Given the description of an element on the screen output the (x, y) to click on. 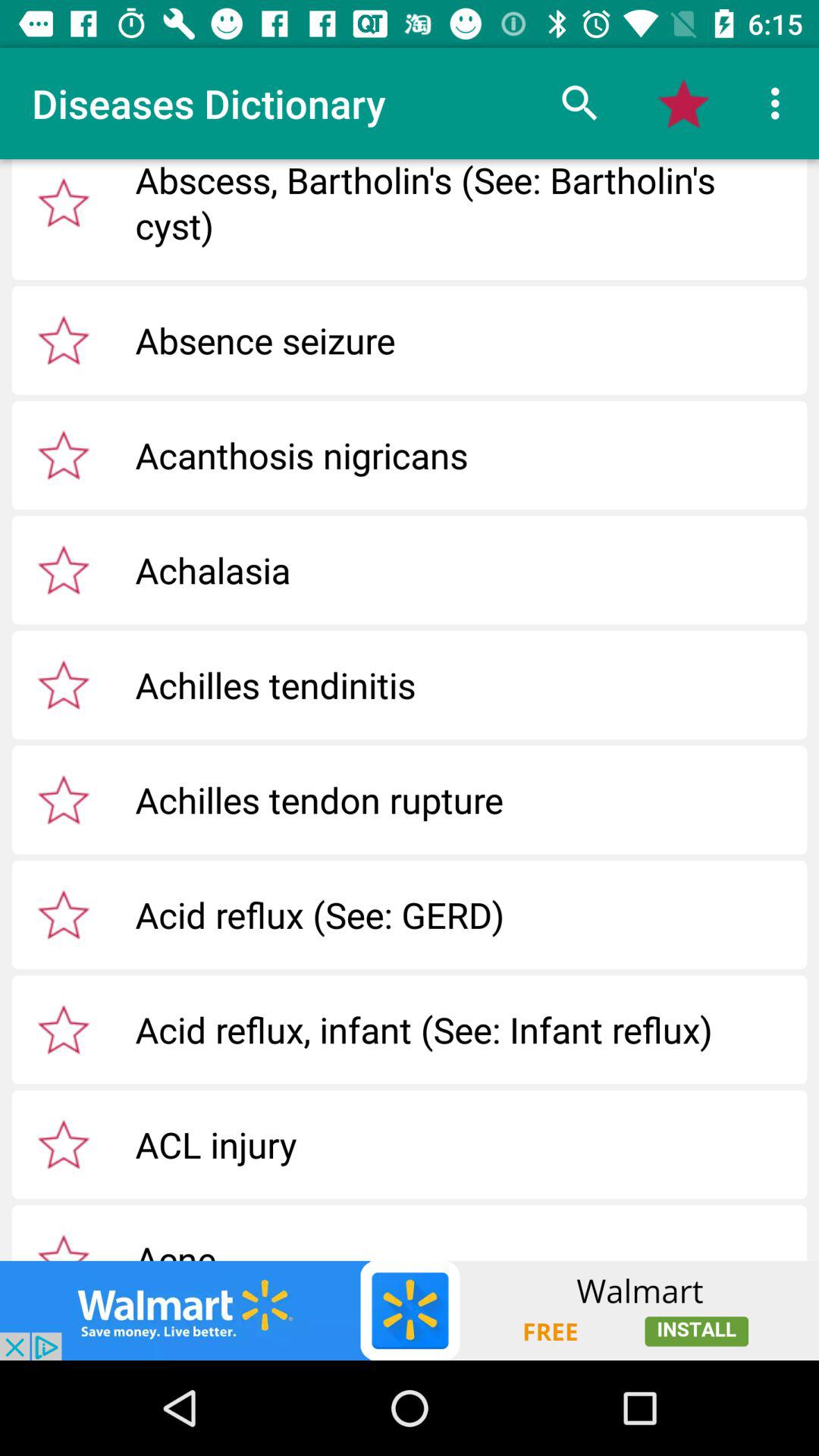
bookmark (63, 454)
